Given the description of an element on the screen output the (x, y) to click on. 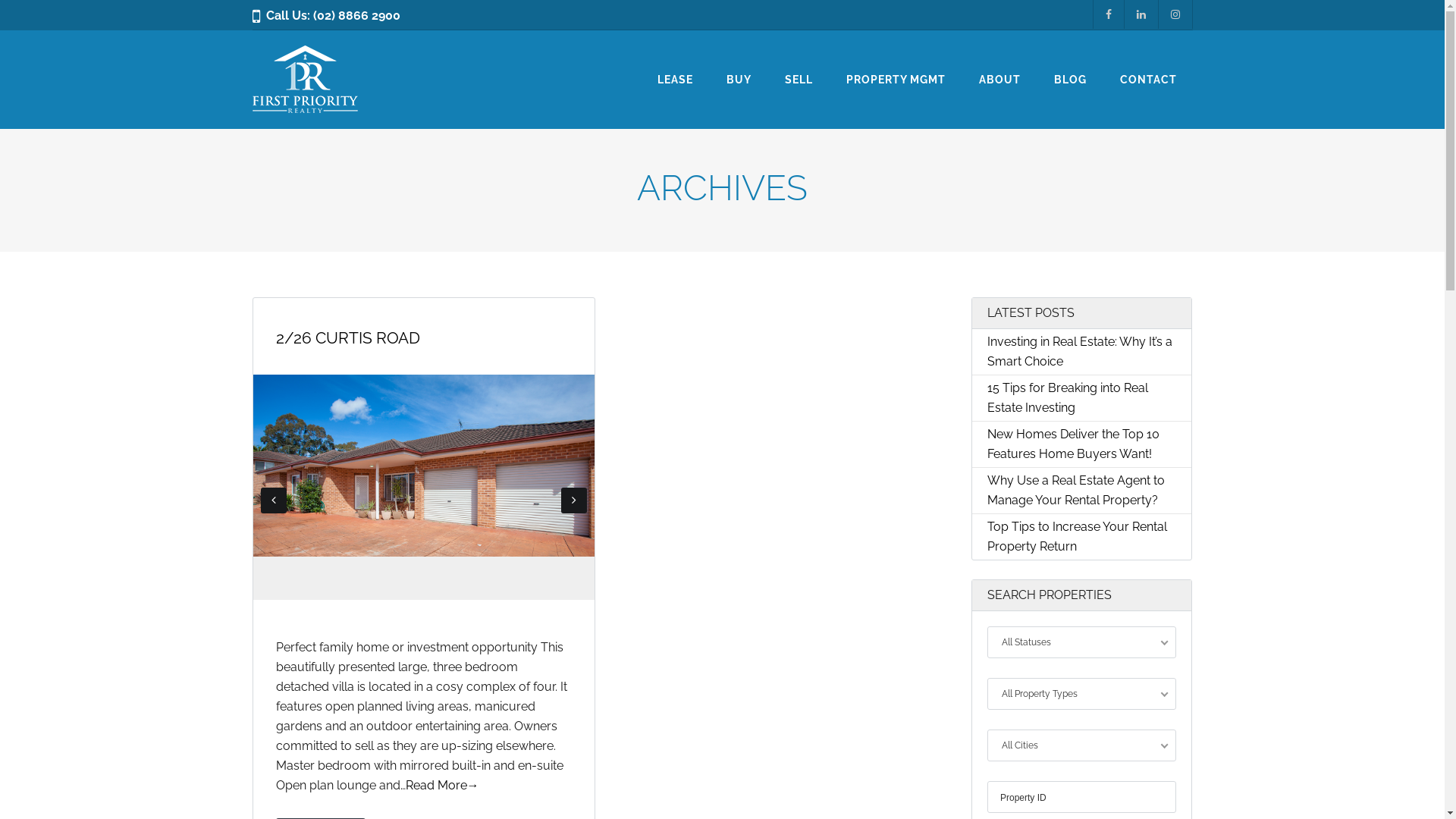
15 Tips for Breaking into Real Estate Investing Element type: text (1067, 397)
BLOG Element type: text (1069, 71)
Next Element type: text (573, 500)
CONTACT Element type: text (1148, 71)
Previous Element type: text (273, 500)
Why Use a Real Estate Agent to Manage Your Rental Property? Element type: text (1075, 490)
ABOUT Element type: text (999, 71)
BUY Element type: text (738, 71)
SELL Element type: text (798, 71)
LEASE Element type: text (675, 71)
2/26 CURTIS ROAD Element type: text (348, 337)
New Homes Deliver the Top 10 Features Home Buyers Want! Element type: text (1073, 443)
Top Tips to Increase Your Rental Property Return Element type: text (1077, 536)
PROPERTY MGMT Element type: text (895, 71)
